Given the description of an element on the screen output the (x, y) to click on. 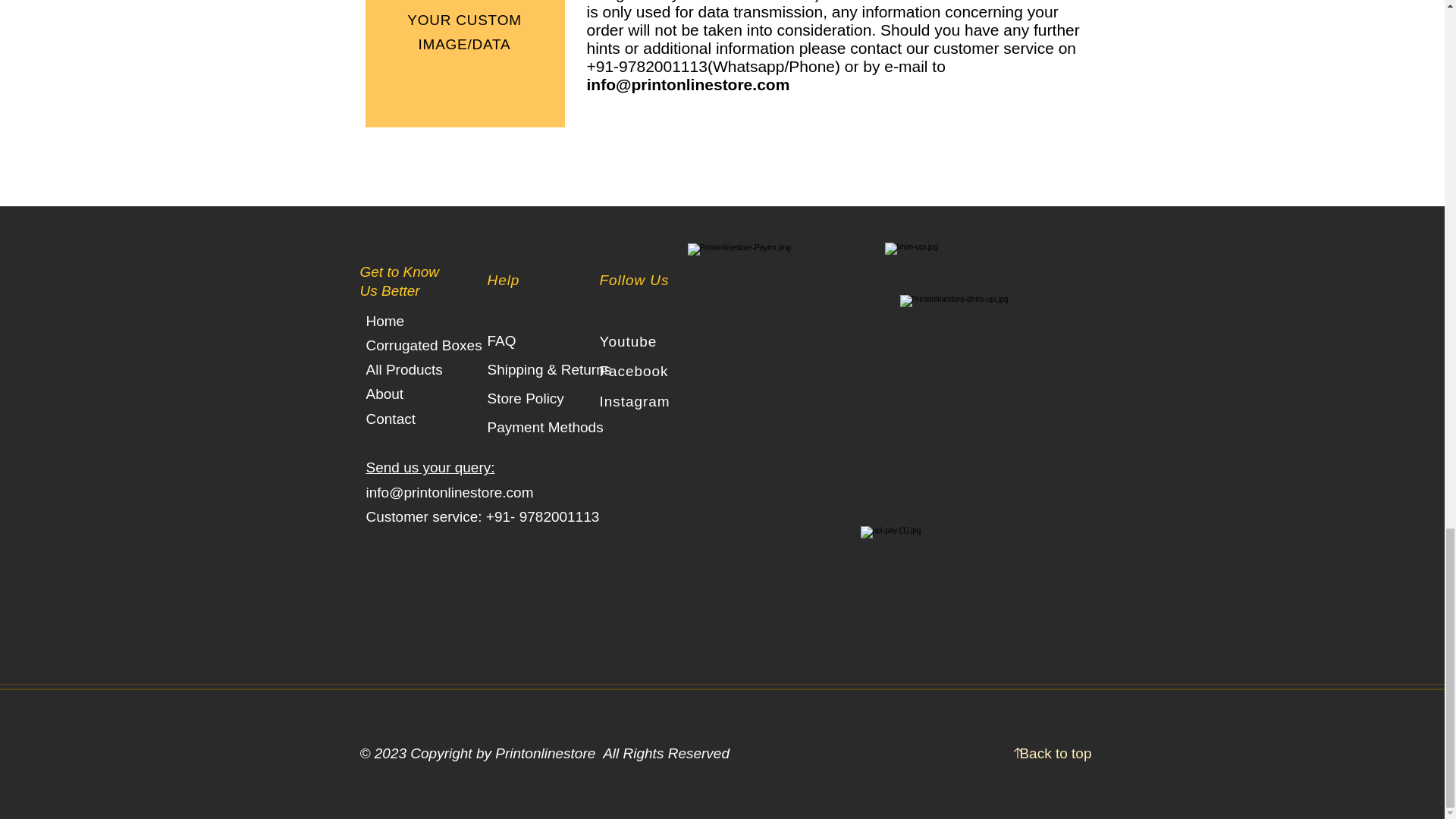
Send us your query: (430, 467)
Contact (389, 418)
Store Policy (524, 398)
About (384, 393)
Instagram (633, 401)
All Products (403, 369)
Facebook (633, 371)
Back to top (1054, 753)
FAQ (500, 340)
Corrugated Boxes (423, 344)
